Given the description of an element on the screen output the (x, y) to click on. 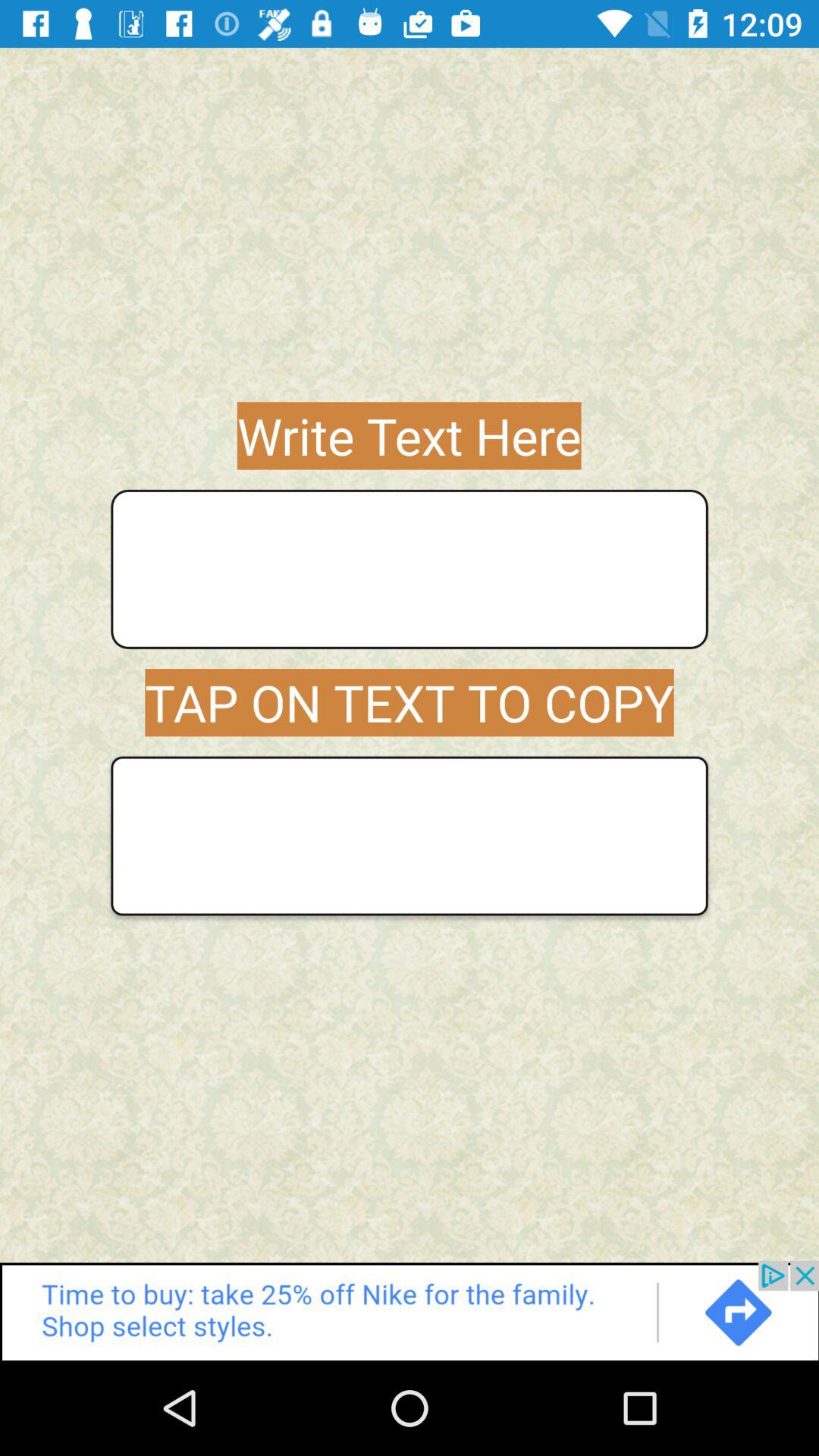
new tap (409, 835)
